Given the description of an element on the screen output the (x, y) to click on. 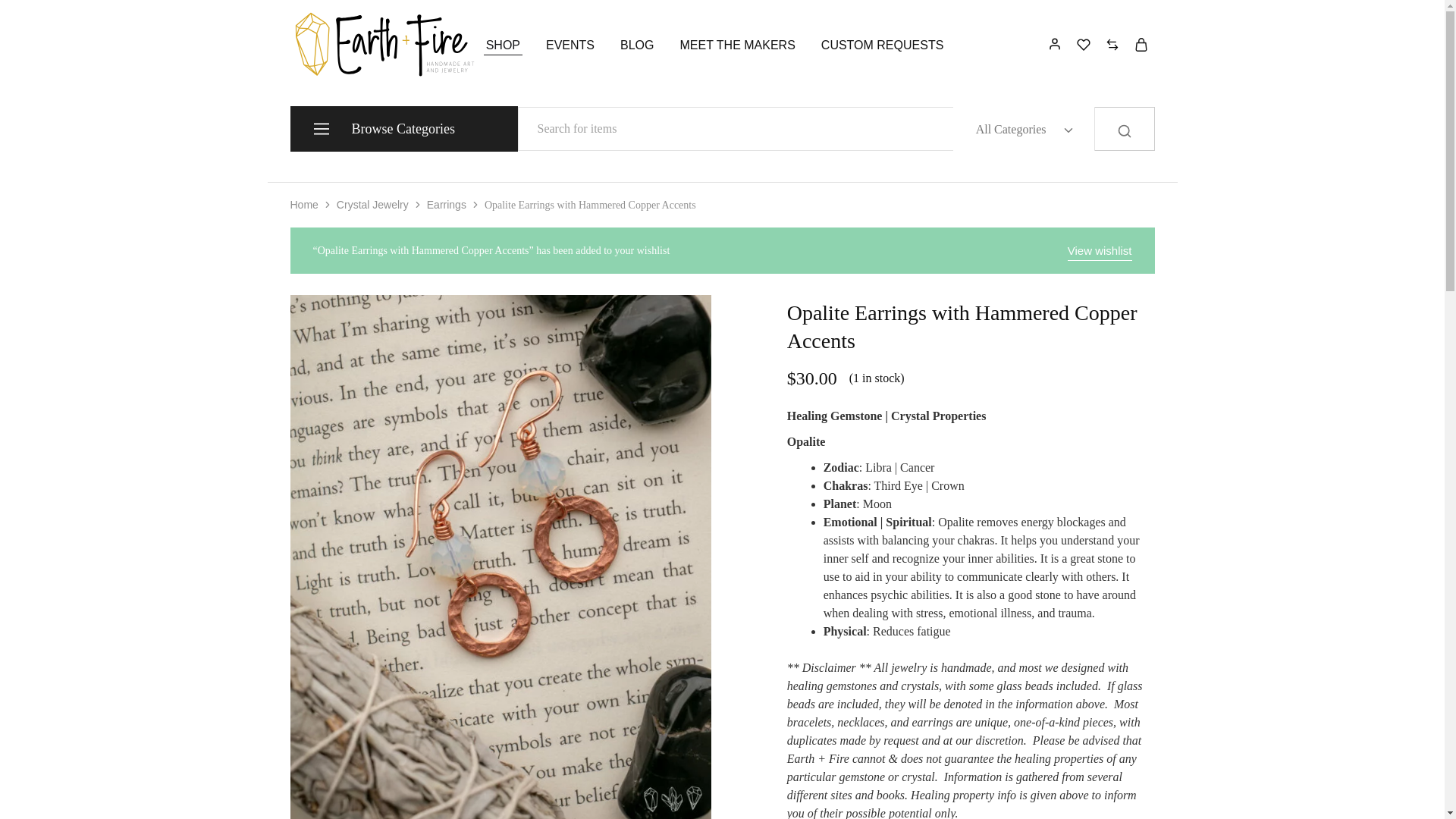
SHOP (502, 45)
EVENTS (569, 45)
CUSTOM REQUESTS (882, 45)
BLOG (636, 45)
Home (303, 204)
Crystal Jewelry (372, 204)
MEET THE MAKERS (737, 45)
